Given the description of an element on the screen output the (x, y) to click on. 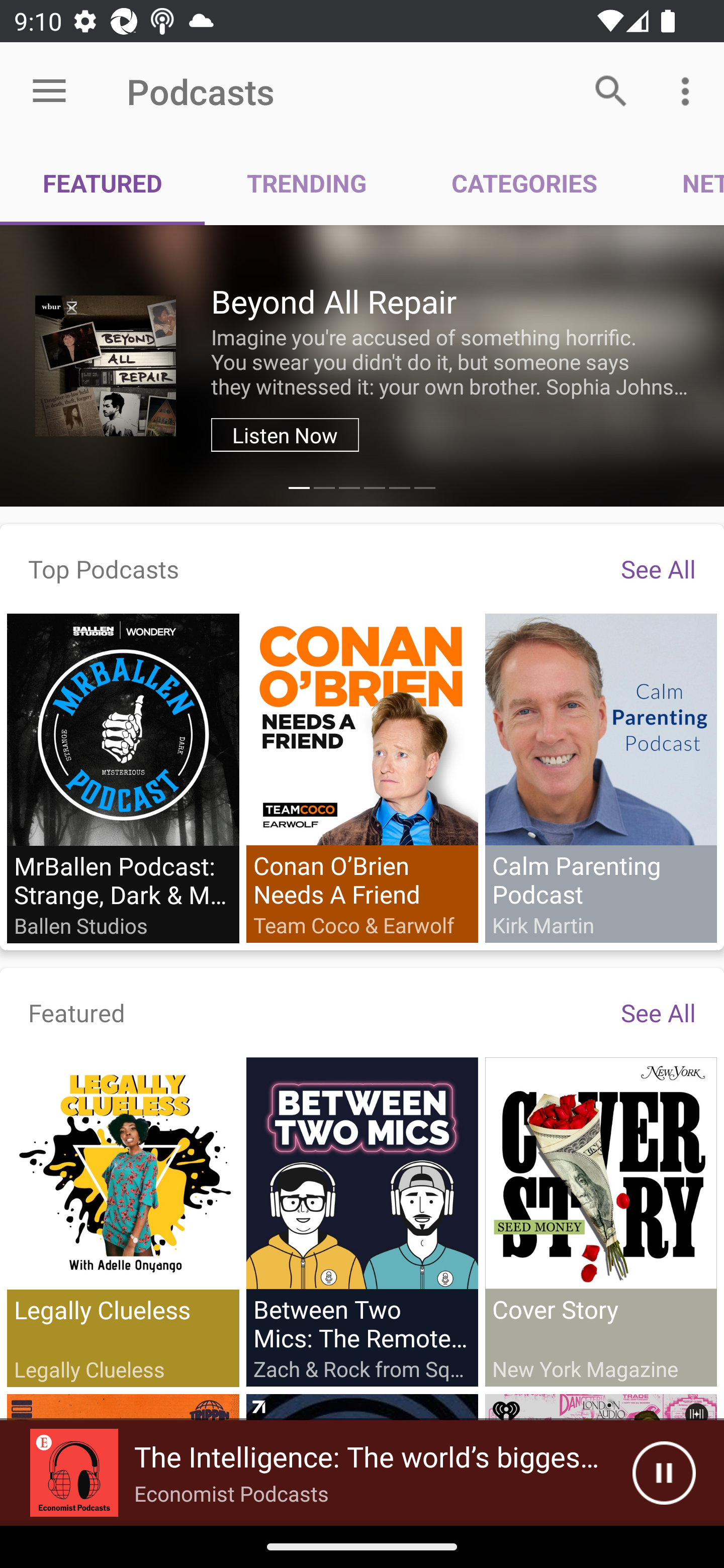
Open menu (49, 91)
Search (611, 90)
More options (688, 90)
FEATURED (102, 183)
TRENDING (306, 183)
CATEGORIES (524, 183)
Top Podcasts (103, 567)
See All (658, 567)
Conan O’Brien Needs A Friend Team Coco & Earwolf (361, 777)
Calm Parenting Podcast Kirk Martin (600, 777)
Featured (76, 1011)
See All (658, 1011)
Legally Clueless (123, 1221)
Cover Story New York Magazine (600, 1221)
Pause (663, 1472)
